Given the description of an element on the screen output the (x, y) to click on. 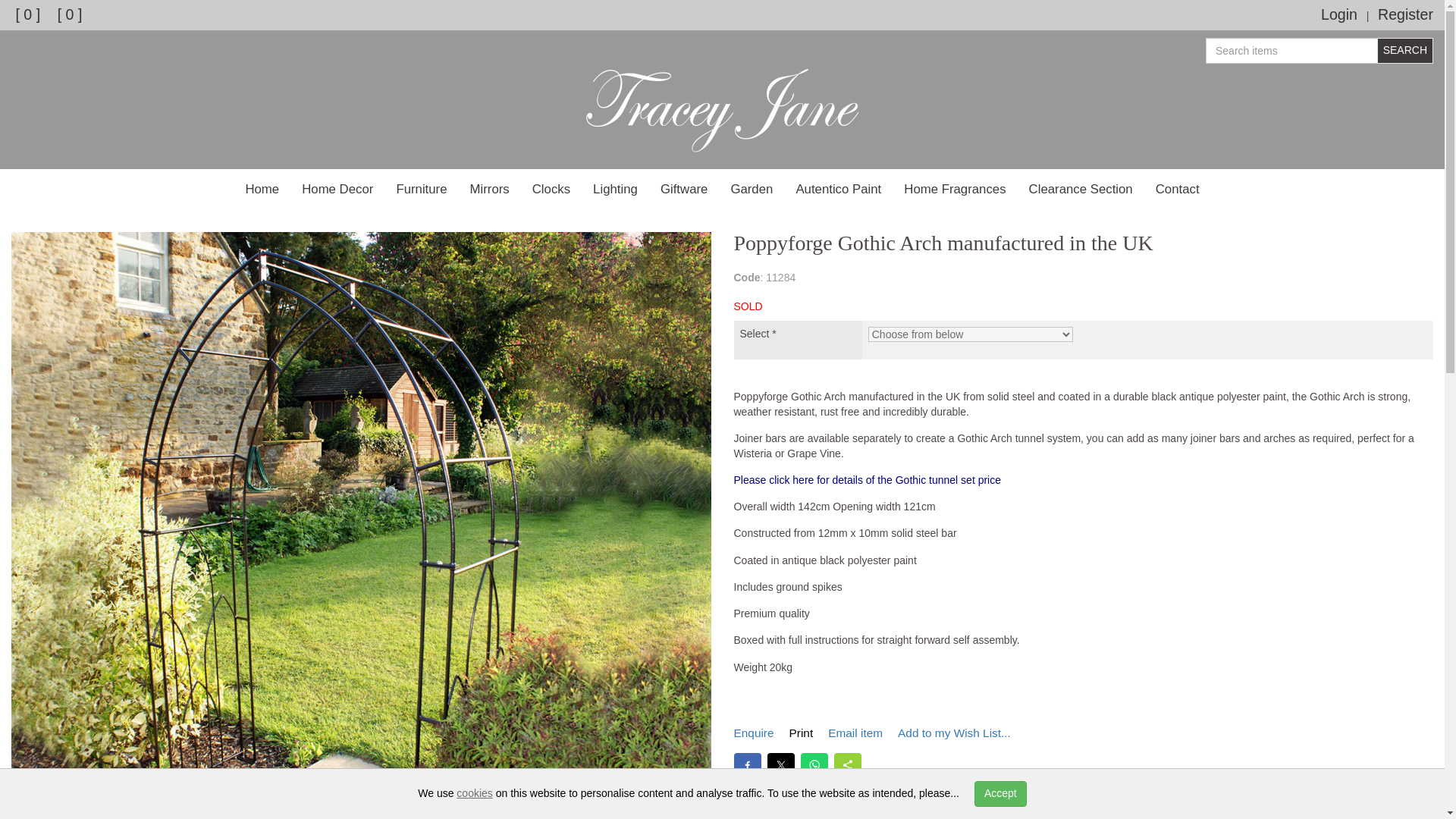
Enquire (753, 733)
Furniture (421, 189)
Home Fragrances (954, 189)
Autentico Paint (838, 189)
Clearance Section (1080, 189)
Giftware (684, 189)
Garden (751, 189)
Mirrors (489, 189)
Contact (1177, 189)
Add to my Wish List... (954, 733)
Clocks (550, 189)
Email item (855, 733)
Home Decor (336, 189)
